Given the description of an element on the screen output the (x, y) to click on. 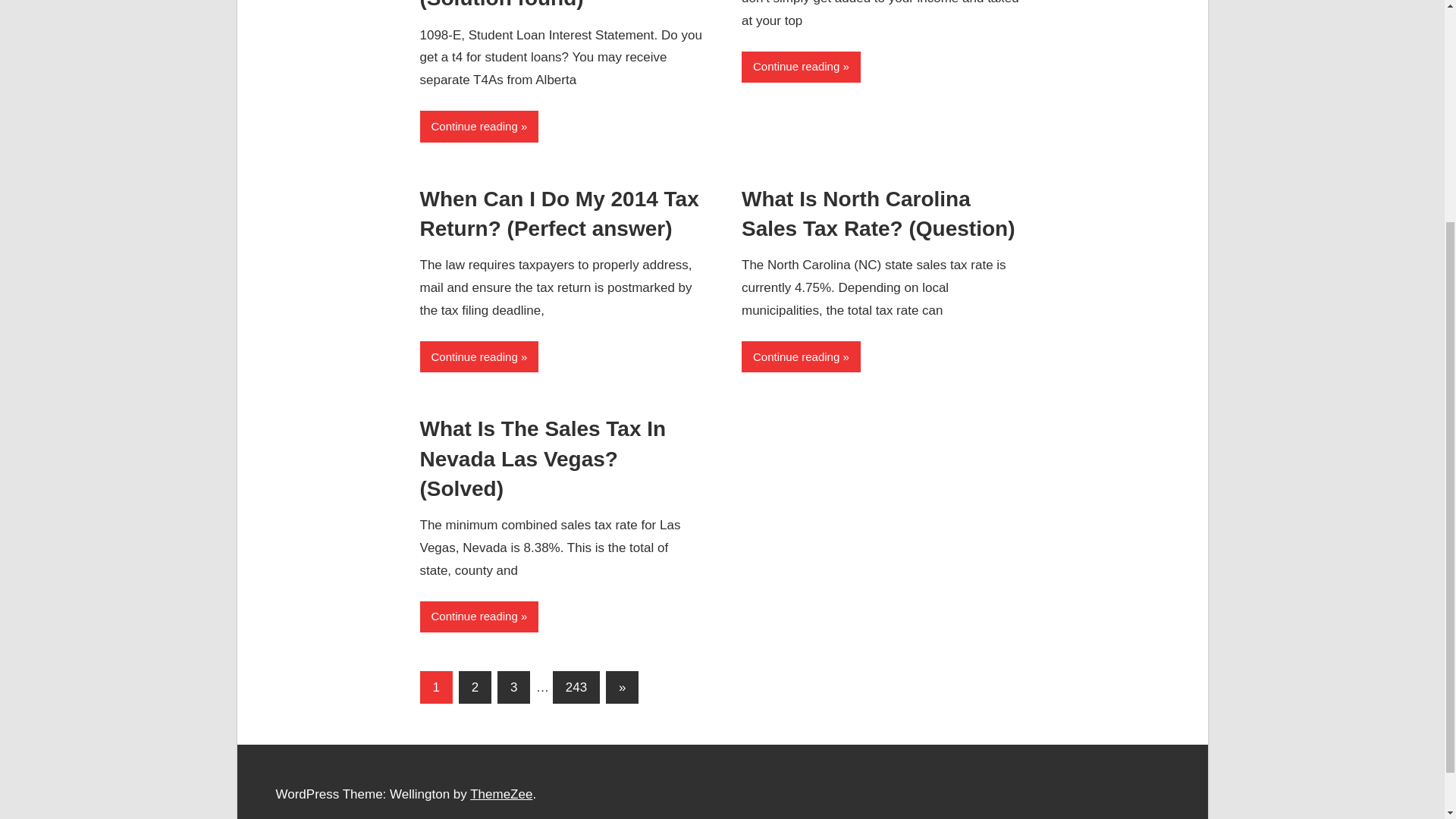
ThemeZee (501, 794)
Continue reading (479, 616)
2 (475, 686)
Continue reading (479, 356)
3 (513, 686)
Continue reading (479, 125)
243 (576, 686)
Continue reading (800, 356)
Continue reading (800, 66)
